Given the description of an element on the screen output the (x, y) to click on. 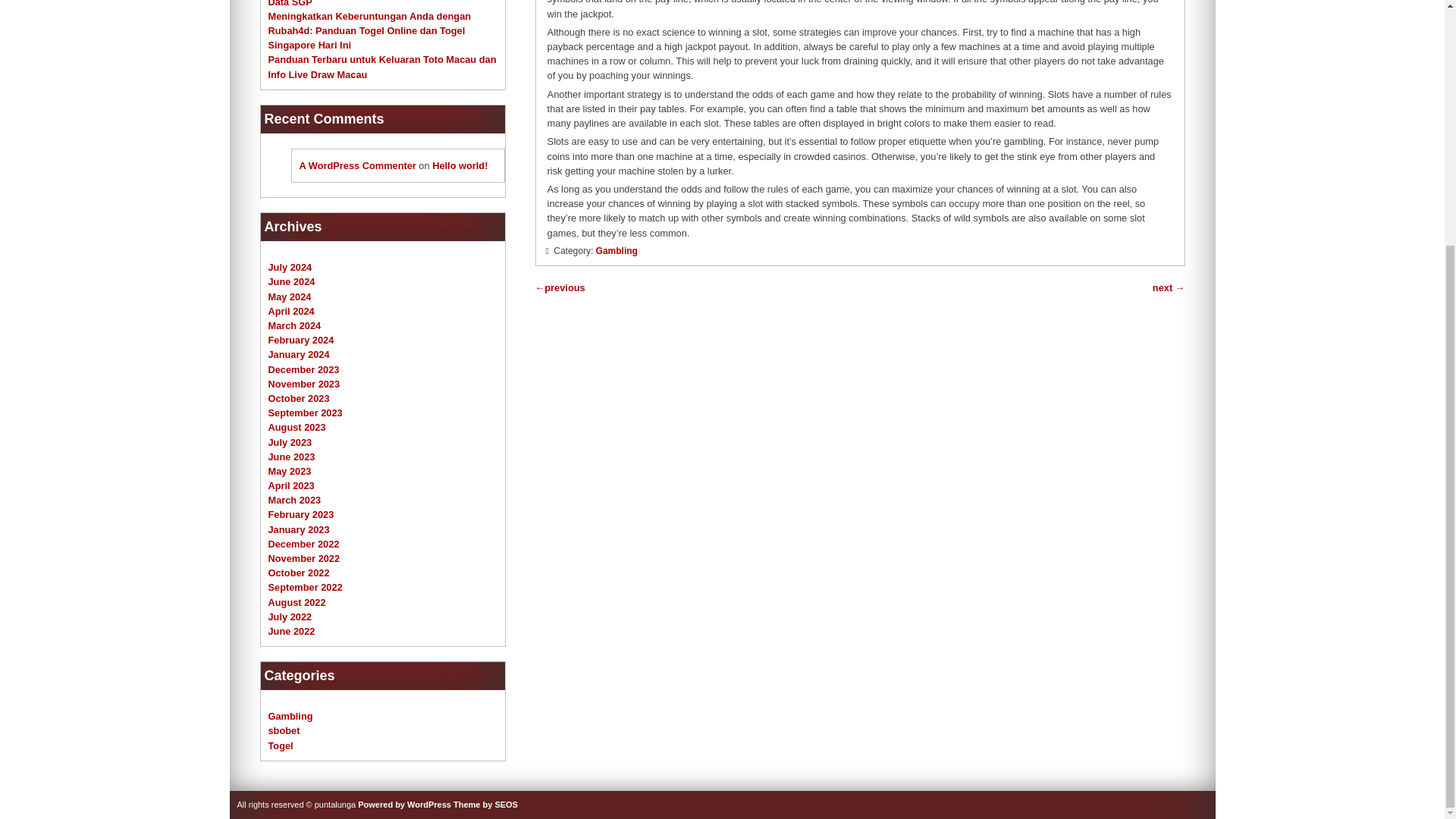
May 2024 (289, 296)
April 2023 (290, 485)
June 2024 (291, 281)
November 2022 (303, 558)
January 2024 (298, 354)
December 2022 (303, 543)
December 2023 (303, 369)
July 2023 (290, 441)
February 2023 (300, 514)
September 2023 (304, 412)
March 2024 (294, 325)
Seos free wordpress themes (485, 804)
February 2024 (300, 339)
May 2023 (289, 471)
